Given the description of an element on the screen output the (x, y) to click on. 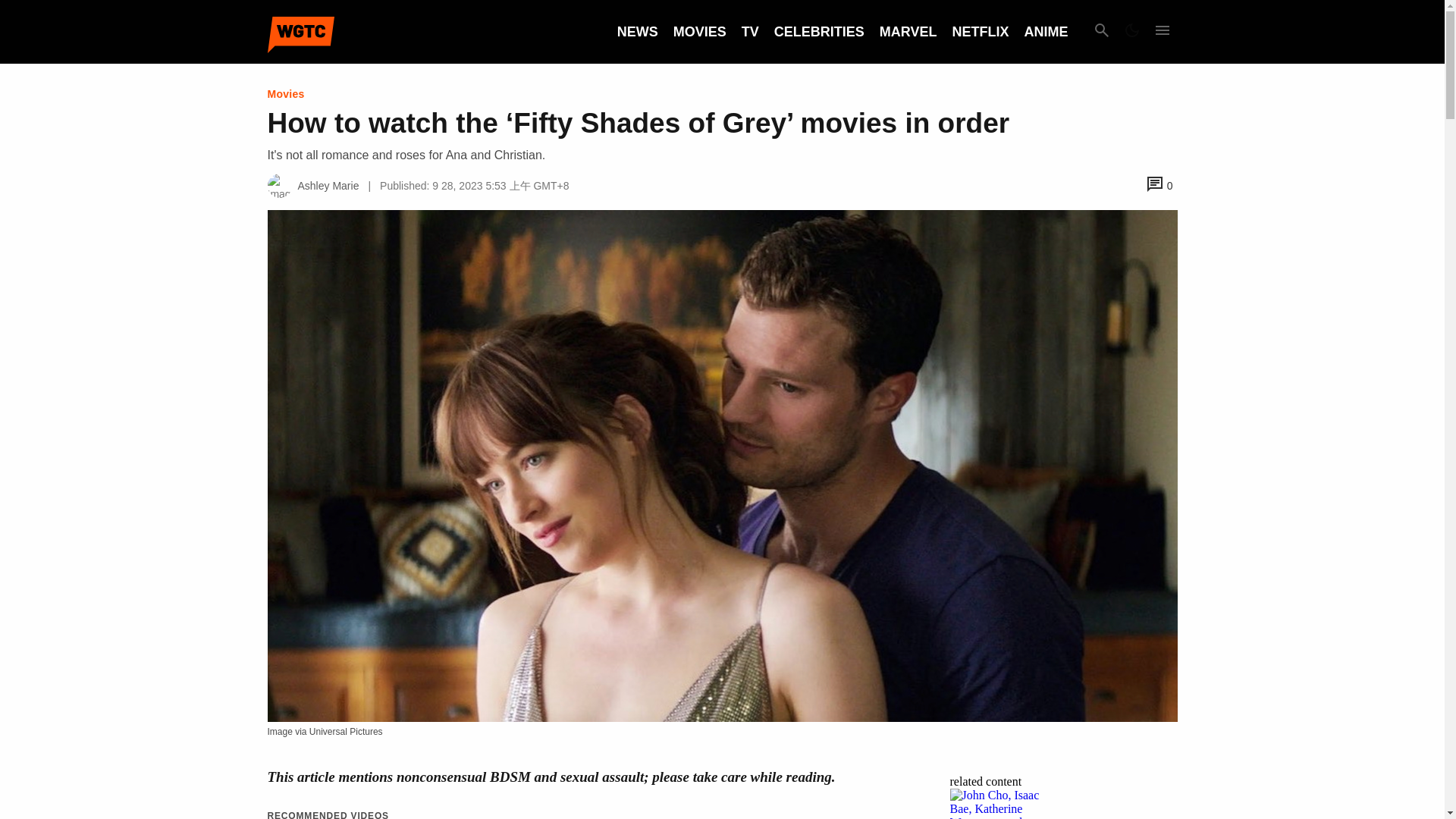
MARVEL (908, 31)
TV (749, 31)
NEWS (637, 31)
ANIME (1045, 31)
Dark Mode (1131, 31)
CELEBRITIES (819, 31)
MOVIES (699, 31)
Search (1101, 31)
Expand Menu (1161, 31)
NETFLIX (980, 31)
